Given the description of an element on the screen output the (x, y) to click on. 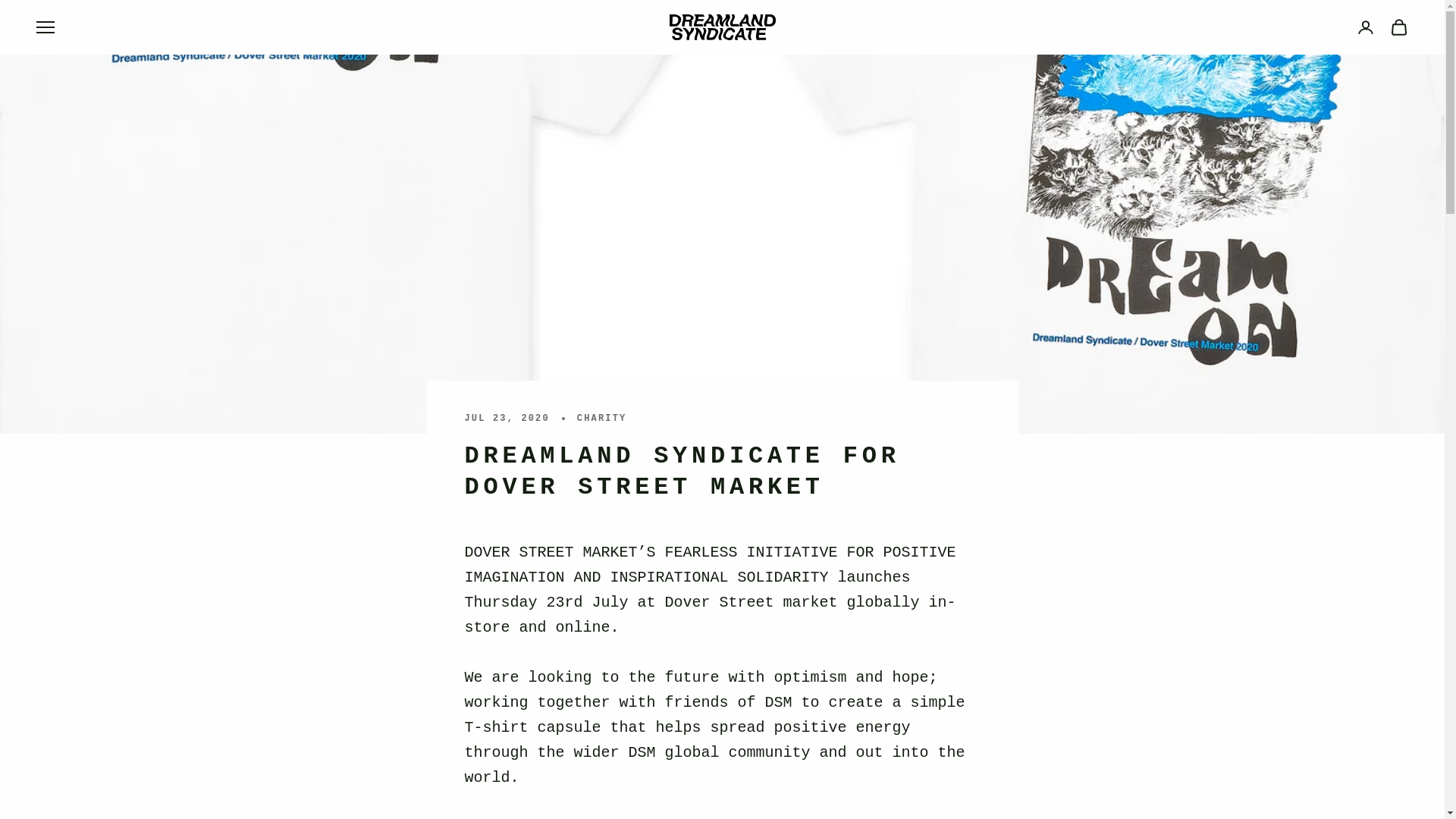
CHARITY (601, 418)
Open account page (1365, 27)
Open cart (1398, 27)
Dreamland Syndicate (721, 27)
Open navigation menu (45, 27)
